Given the description of an element on the screen output the (x, y) to click on. 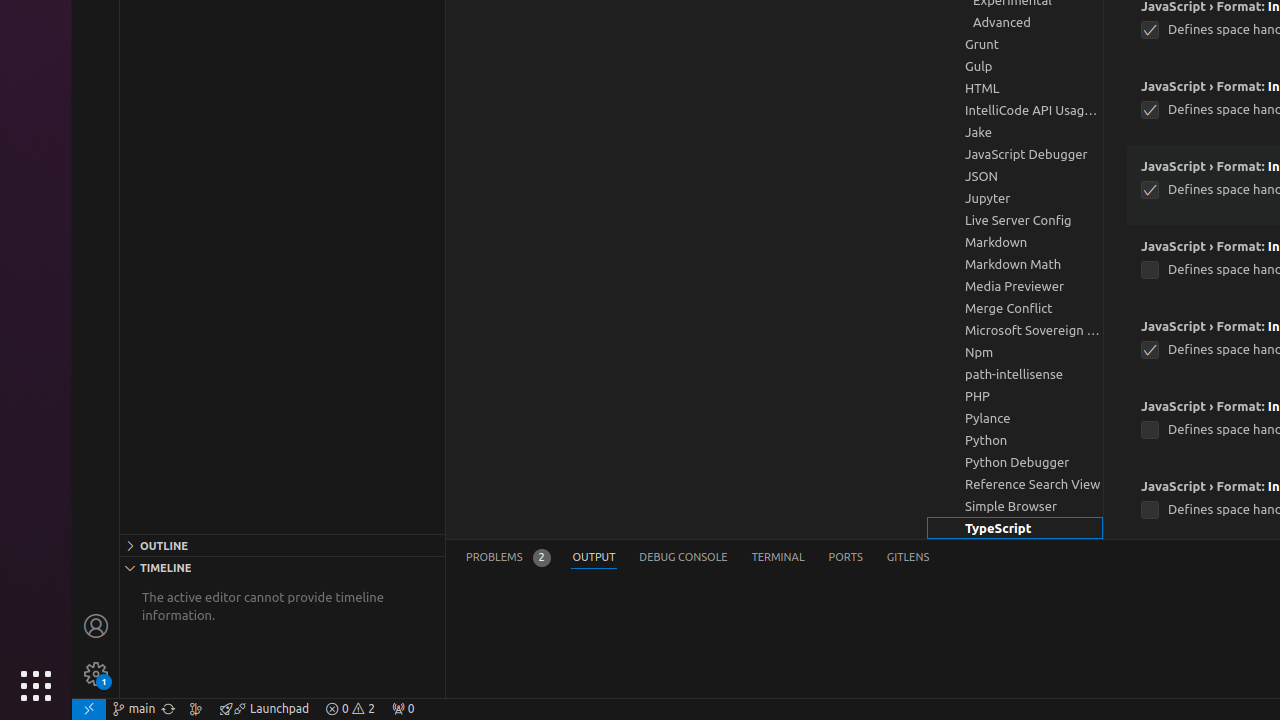
Timeline Section Element type: push-button (282, 567)
Python Debugger, group Element type: tree-item (1015, 462)
Advanced, group Element type: tree-item (1015, 22)
GitLens Element type: page-tab (908, 557)
Active View Switcher Element type: page-tab-list (698, 557)
